Given the description of an element on the screen output the (x, y) to click on. 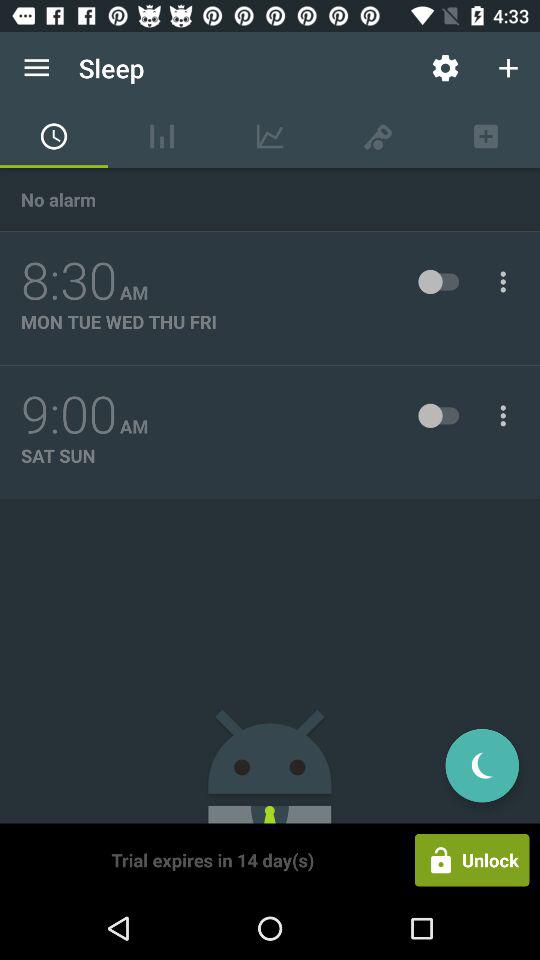
swipe to the 9:00 item (69, 415)
